Given the description of an element on the screen output the (x, y) to click on. 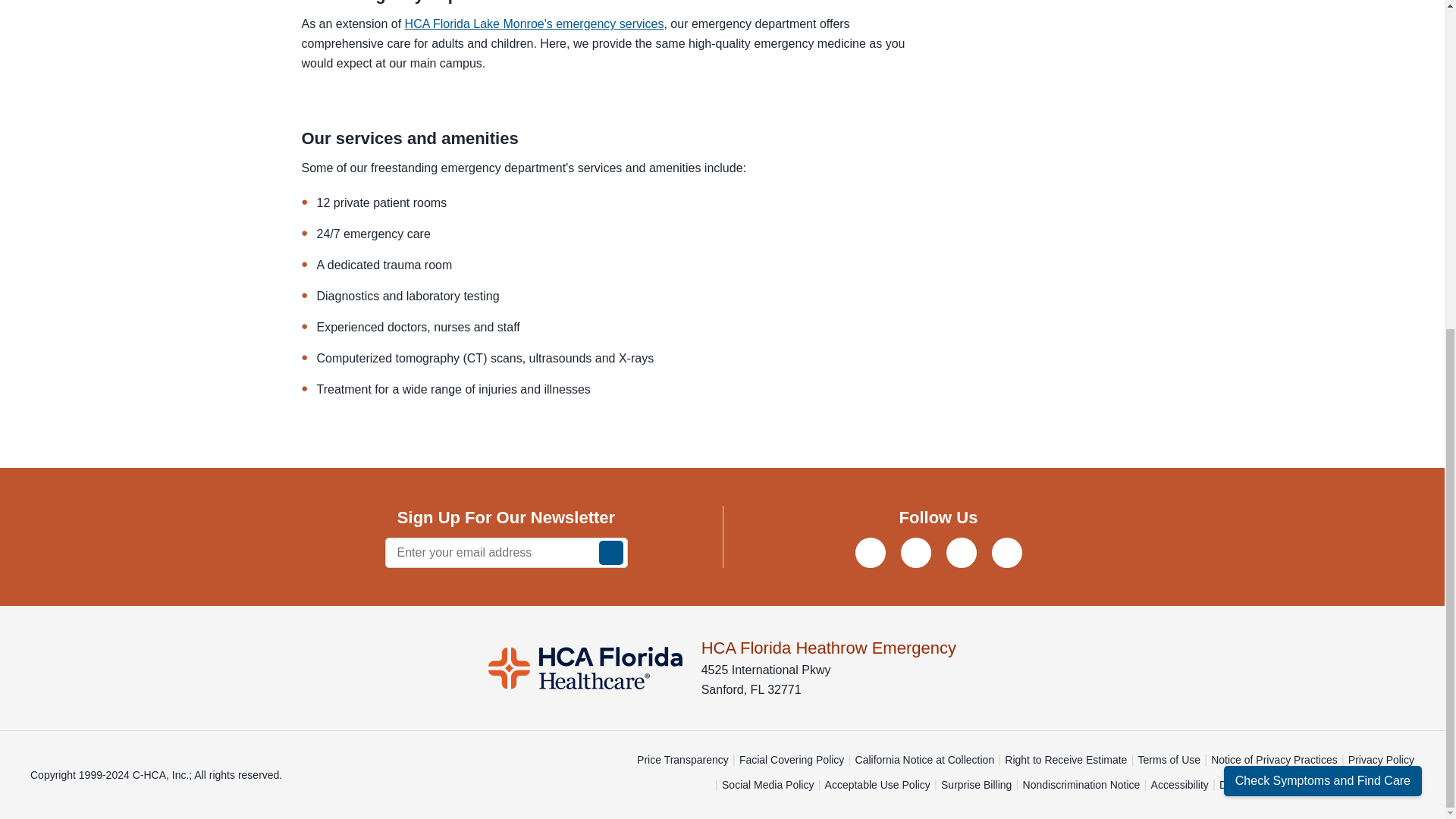
HCA Florida Lake Monroe's emergency services (533, 23)
Acceptable Use Policy (877, 784)
Social Media Policy (767, 784)
Facial Covering Policy (791, 759)
Price Transparency (683, 759)
Nondiscrimination Notice (1081, 784)
Terms of Use (1168, 759)
Right to Receive Estimate (1065, 759)
Disclosures (1247, 784)
Accessibility (1179, 784)
California Notice at Collection (925, 759)
Notice of Privacy Practices (1274, 759)
Check Symptoms and Find Care (1323, 236)
Surprise Billing (975, 784)
Privacy Policy (1380, 759)
